Given the description of an element on the screen output the (x, y) to click on. 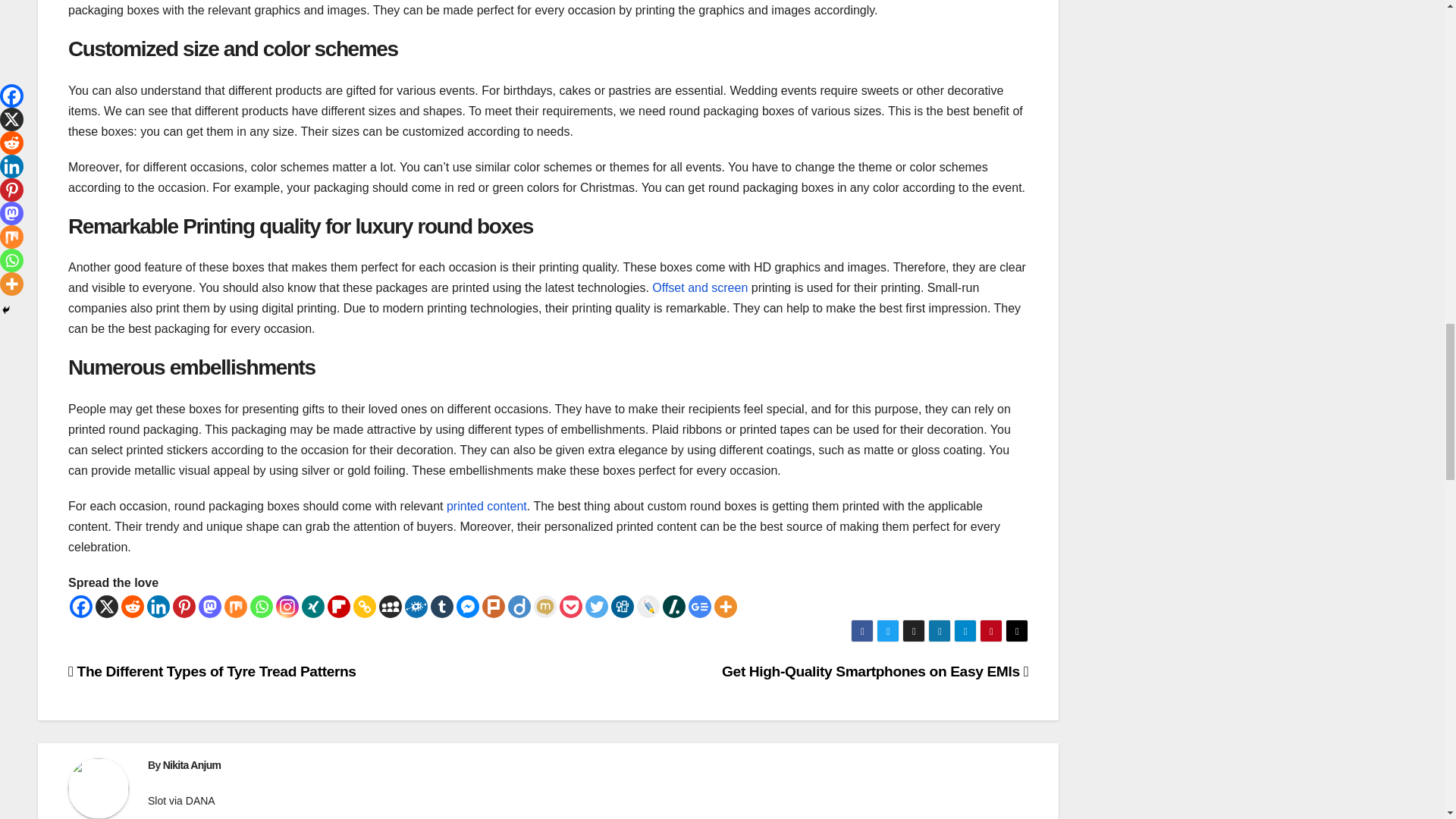
Whatsapp (261, 606)
printed content (486, 505)
Instagram (287, 606)
Pinterest (184, 606)
Mix (235, 606)
Facebook (81, 606)
Offset and screen (700, 287)
Reddit (132, 606)
xing (312, 606)
Linkedin (158, 606)
Mastodon (209, 606)
X (106, 606)
